Given the description of an element on the screen output the (x, y) to click on. 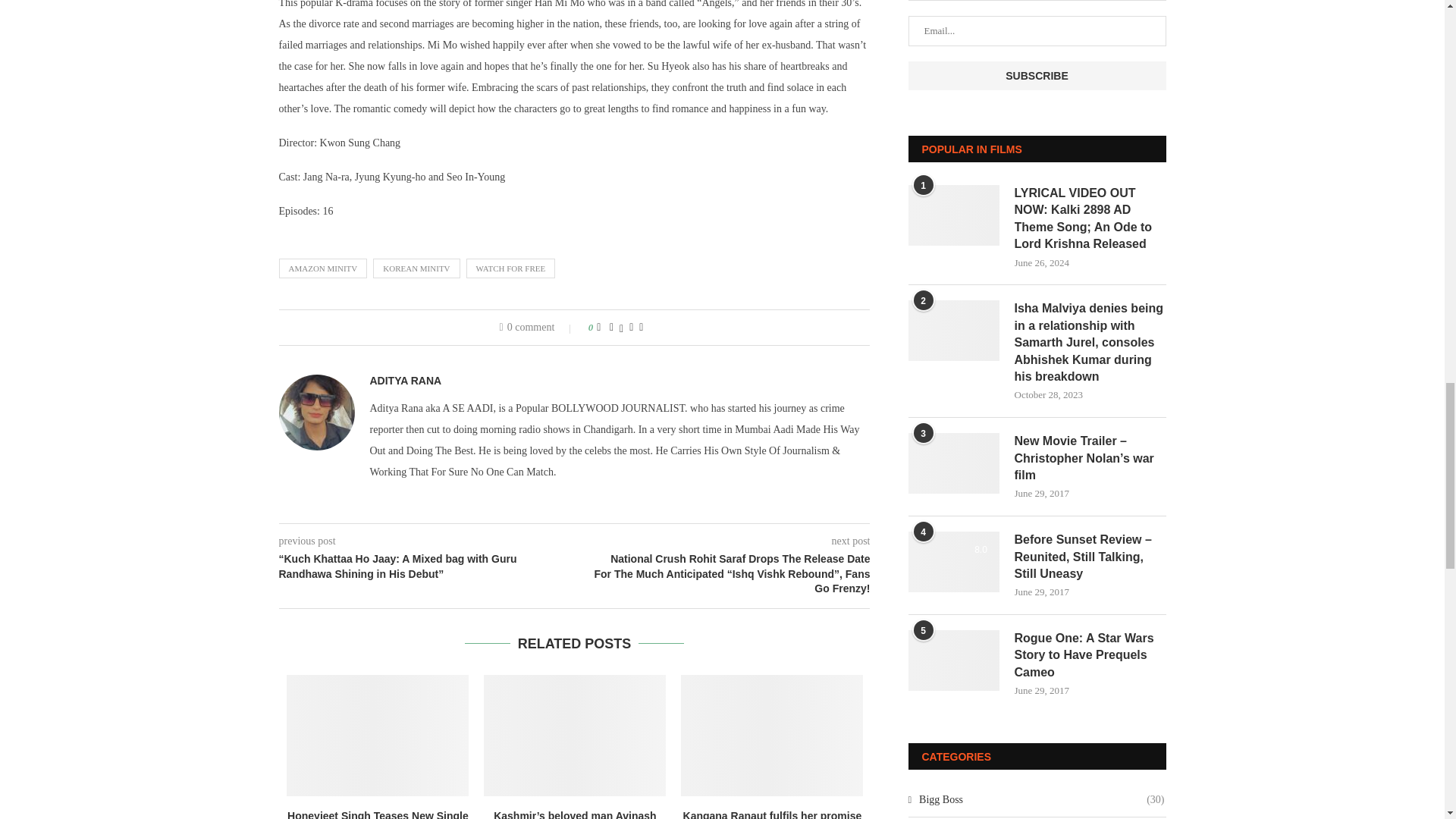
Author Aditya Rana (405, 380)
Subscribe (1037, 75)
KOREAN MINITV (416, 268)
ADITYA RANA (405, 380)
AMAZON MINITV (323, 268)
Like (597, 327)
WATCH FOR FREE (510, 268)
